Given the description of an element on the screen output the (x, y) to click on. 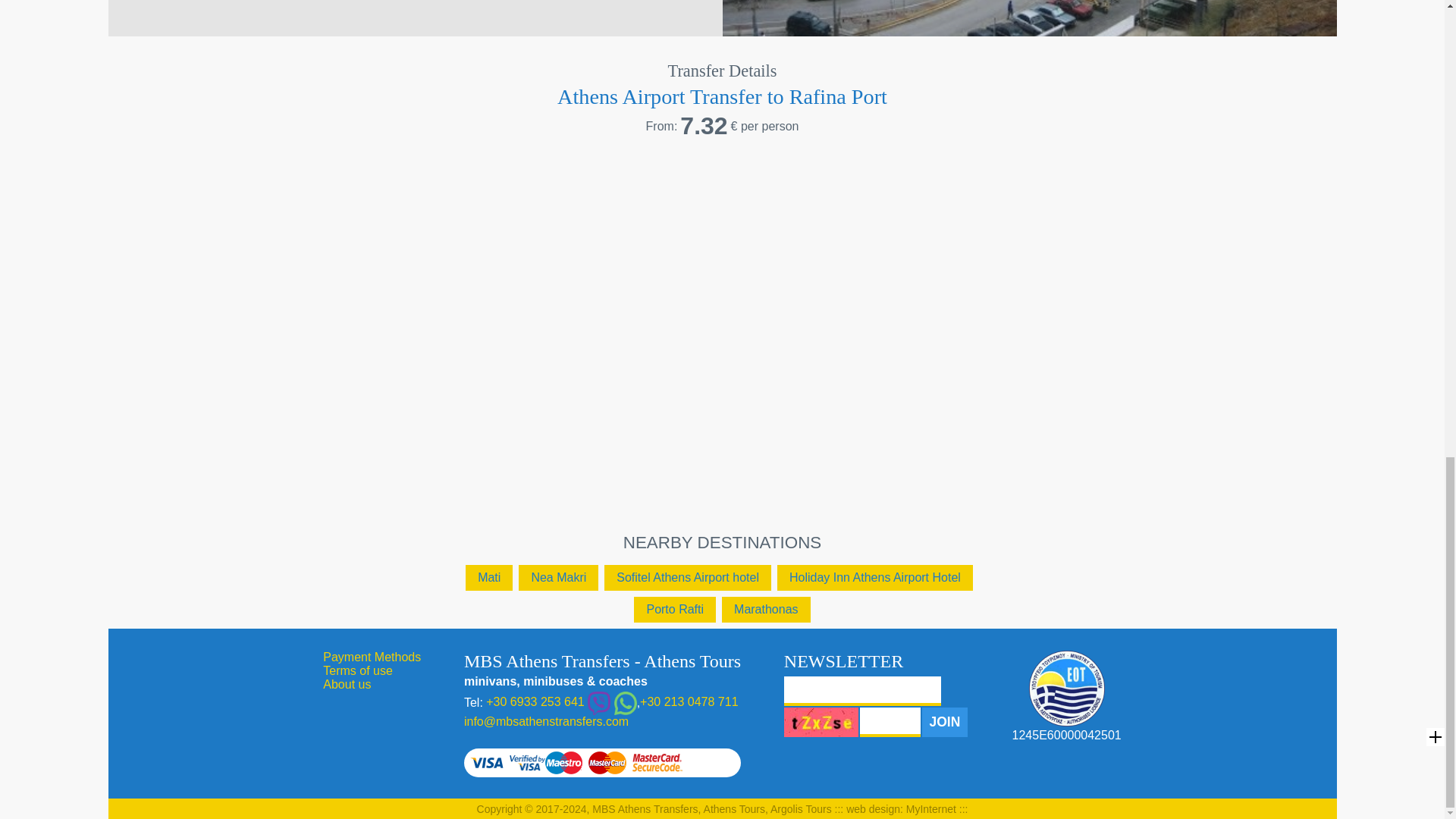
Holiday Inn Athens Airport Hotel (874, 577)
Porto Rafti (674, 609)
Terms of use (358, 671)
About us (347, 684)
MyInternet (930, 808)
Mati (488, 577)
Payment Methods (371, 657)
JOIN (944, 722)
Marathonas (766, 609)
Nea Makri (558, 577)
web design (872, 808)
Sofitel Athens Airport hotel (687, 577)
MyInternet (930, 808)
web design (872, 808)
